Given the description of an element on the screen output the (x, y) to click on. 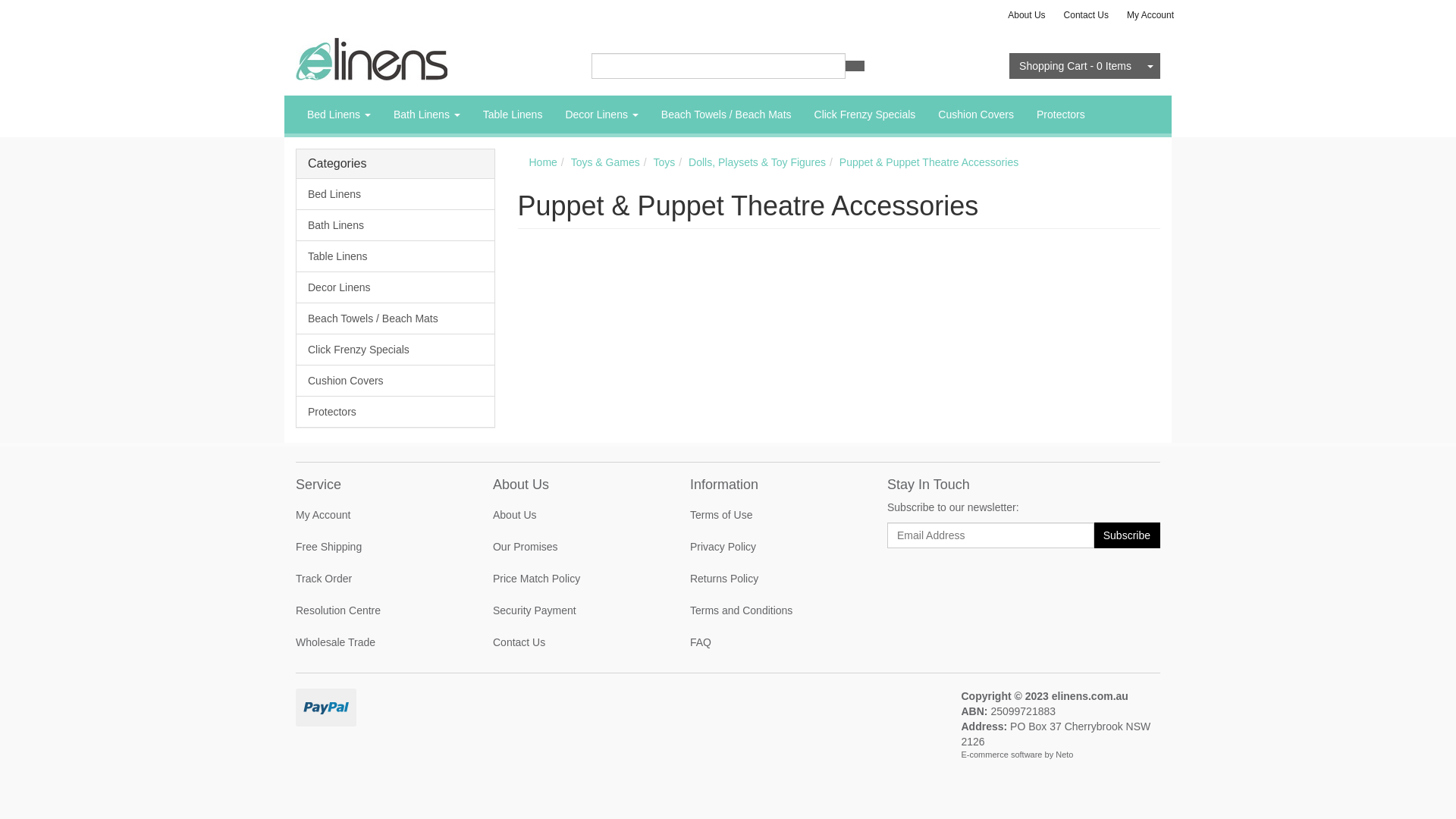
Toys & Games Element type: text (605, 162)
About Us Element type: text (574, 514)
Cushion Covers Element type: text (395, 379)
Resolution Centre Element type: text (377, 610)
elinens.com.au Element type: hover (371, 58)
Protectors Element type: text (1060, 114)
My Account Element type: text (377, 514)
Terms and Conditions Element type: text (771, 610)
About Us Element type: text (1026, 15)
Bath Linens Element type: text (395, 225)
Decor Linens Element type: text (395, 287)
My Account Element type: text (1150, 15)
Beach Towels / Beach Mats Element type: text (726, 114)
Wholesale Trade Element type: text (377, 642)
Free Shipping Element type: text (377, 546)
Contact Us Element type: text (1085, 15)
Privacy Policy Element type: text (771, 546)
Our Promises Element type: text (574, 546)
Returns Policy Element type: text (771, 578)
Beach Towels / Beach Mats Element type: text (395, 317)
Protectors Element type: text (395, 410)
Shopping Cart - 0 Items Element type: text (1075, 65)
Terms of Use Element type: text (771, 514)
Toys Element type: text (663, 162)
Table Linens Element type: text (512, 114)
FAQ Element type: text (771, 642)
Table Linens Element type: text (395, 255)
Bed Linens Element type: text (395, 194)
Contact Us Element type: text (574, 642)
Price Match Policy Element type: text (574, 578)
Puppet & Puppet Theatre Accessories Element type: text (928, 162)
Click Frenzy Specials Element type: text (865, 114)
Decor Linens Element type: text (601, 114)
Cushion Covers Element type: text (975, 114)
Track Order Element type: text (377, 578)
Home Element type: text (543, 162)
Bed Linens Element type: text (338, 114)
Dolls, Playsets & Toy Figures Element type: text (756, 162)
Subscribe Element type: text (1126, 535)
Click Frenzy Specials Element type: text (395, 348)
Bath Linens Element type: text (426, 114)
Security Payment Element type: text (574, 610)
Search Element type: text (854, 65)
Neto Element type: text (1064, 754)
